Given the description of an element on the screen output the (x, y) to click on. 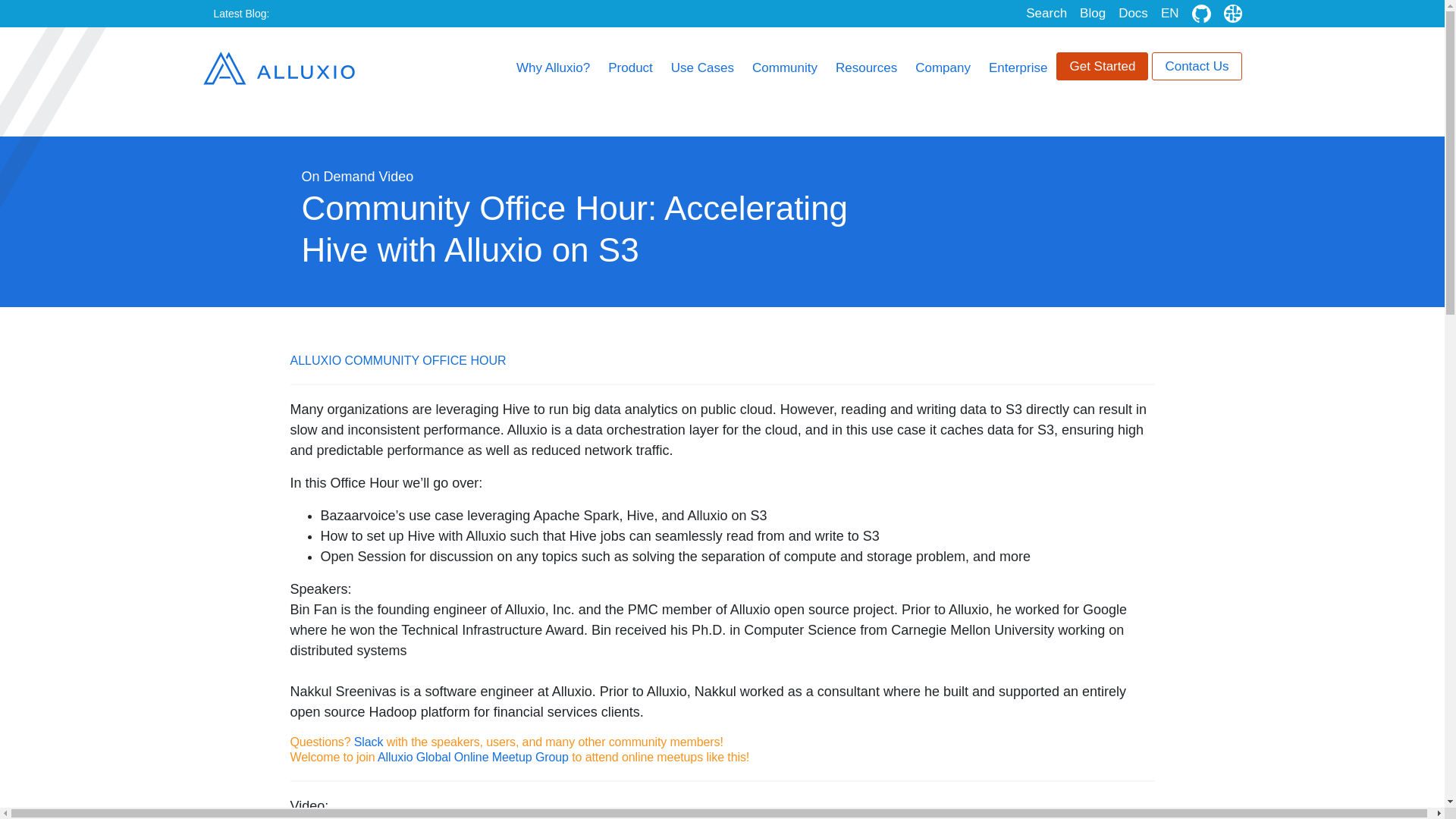
GitHub (1201, 13)
Blog (1092, 12)
EN (1169, 12)
Slack (1232, 13)
Docs (1133, 12)
Community (784, 67)
Resources (866, 67)
Product (630, 67)
Slack (1232, 13)
Search (1046, 12)
